Given the description of an element on the screen output the (x, y) to click on. 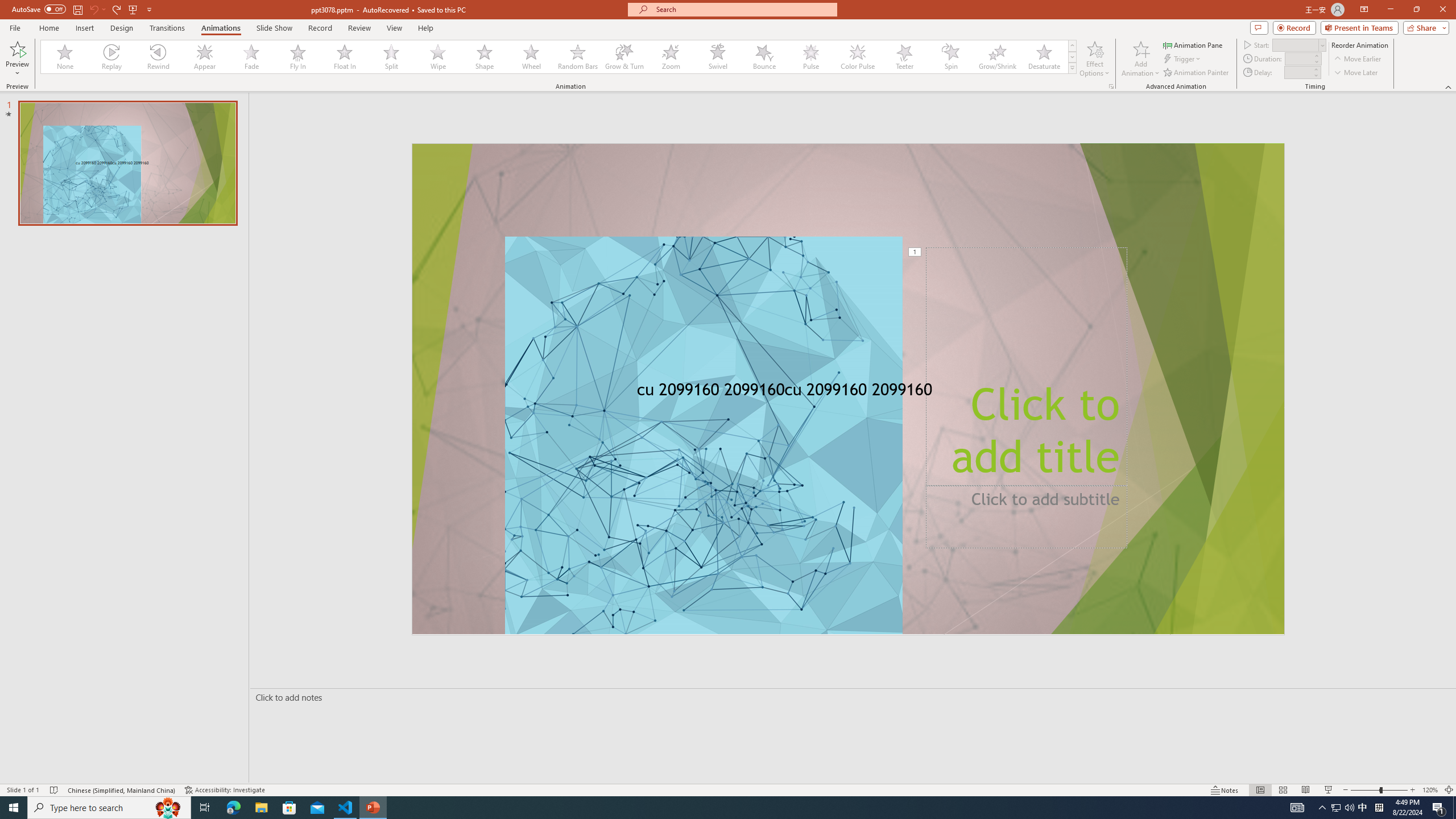
Desaturate (1043, 56)
Less (1315, 75)
Spin (950, 56)
Appear (205, 56)
Class: NetUIImage (1072, 68)
Trigger (1182, 58)
Notes  (1225, 790)
Shape (484, 56)
Add Animation (1141, 58)
